Given the description of an element on the screen output the (x, y) to click on. 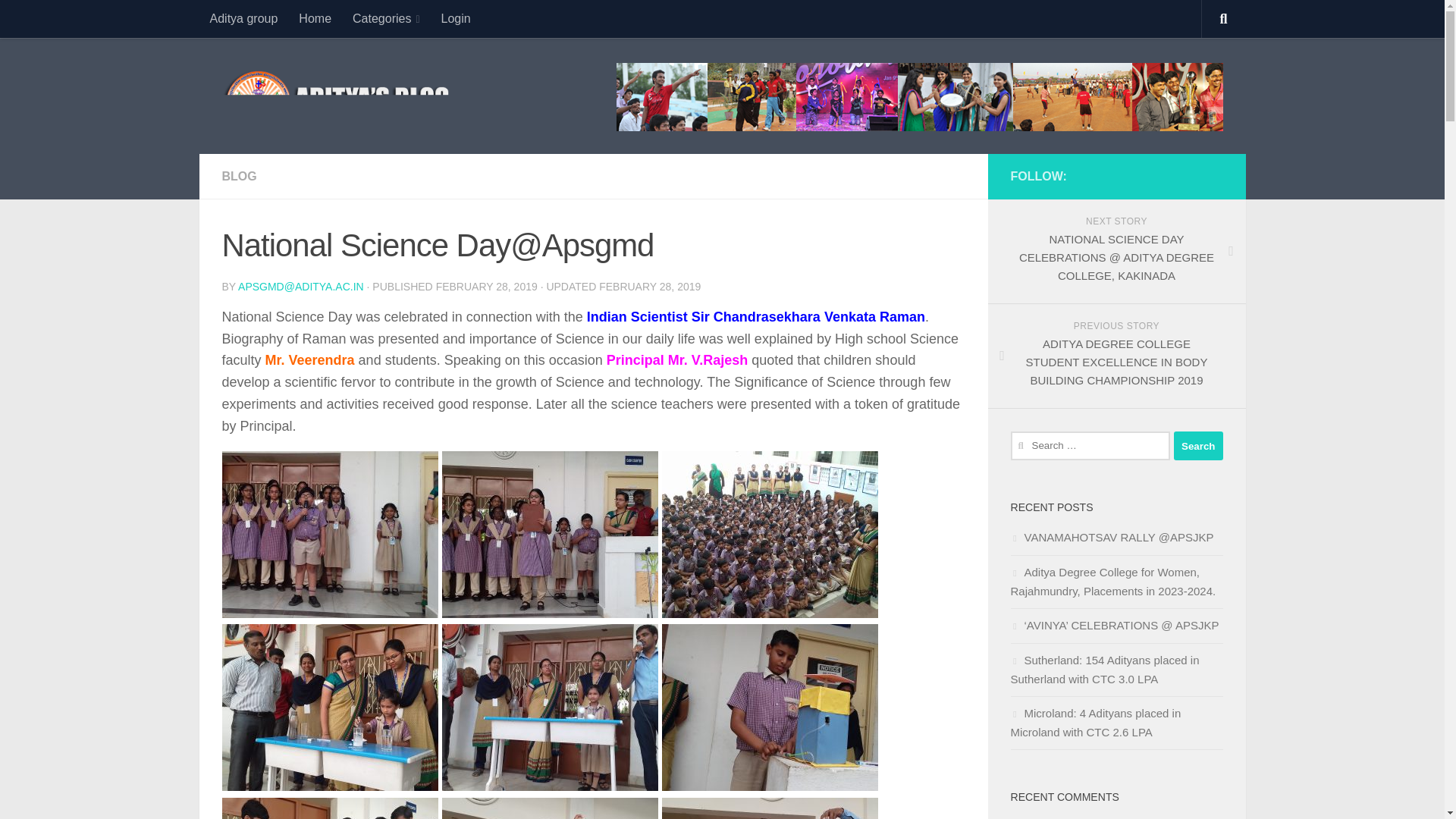
Search (1198, 445)
Login (455, 18)
Categories (386, 18)
Aditya group (243, 18)
Home (315, 18)
Search (1198, 445)
BLOG (238, 175)
Skip to content (63, 20)
